Given the description of an element on the screen output the (x, y) to click on. 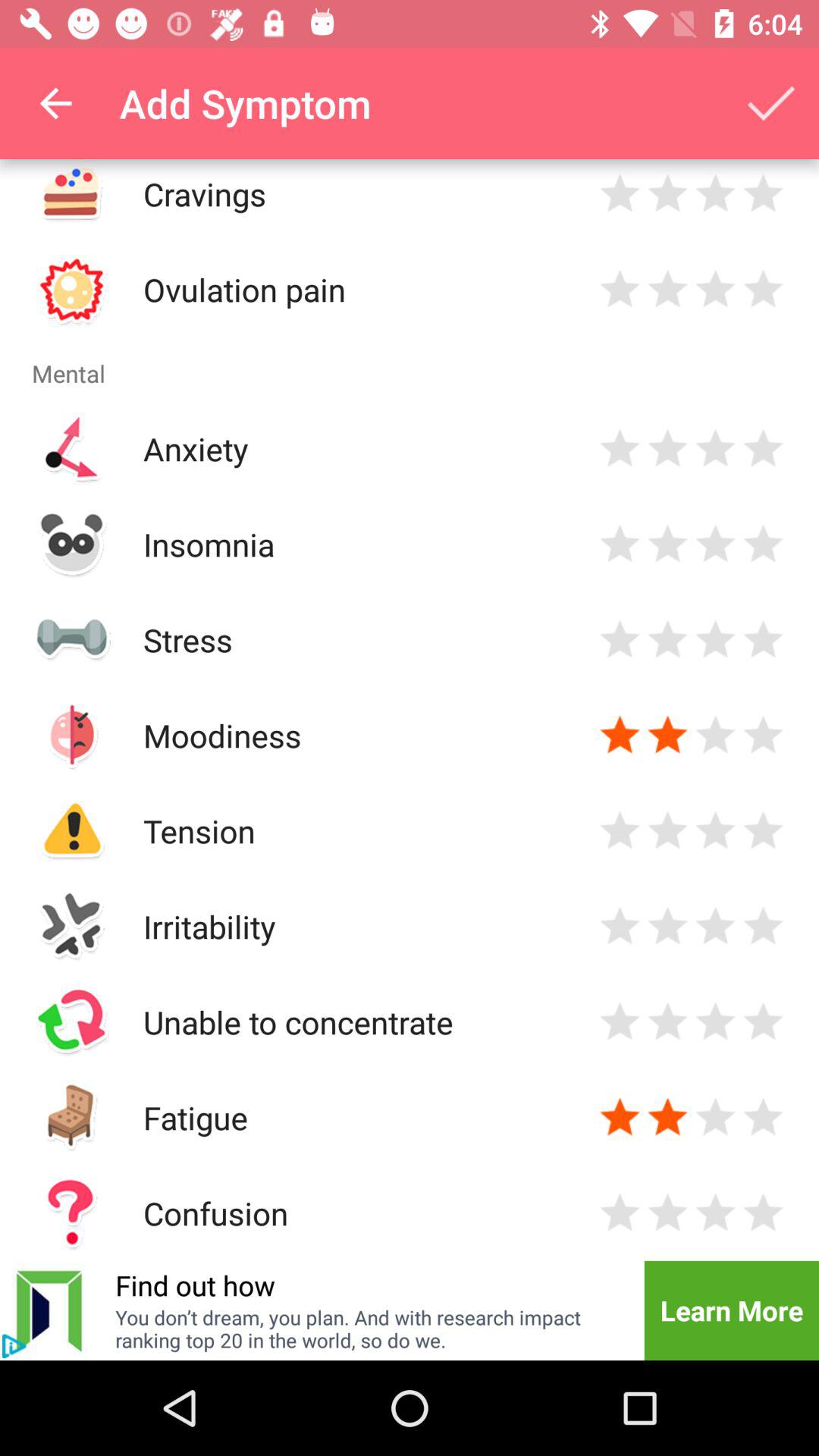
rate a symptom (619, 926)
